Given the description of an element on the screen output the (x, y) to click on. 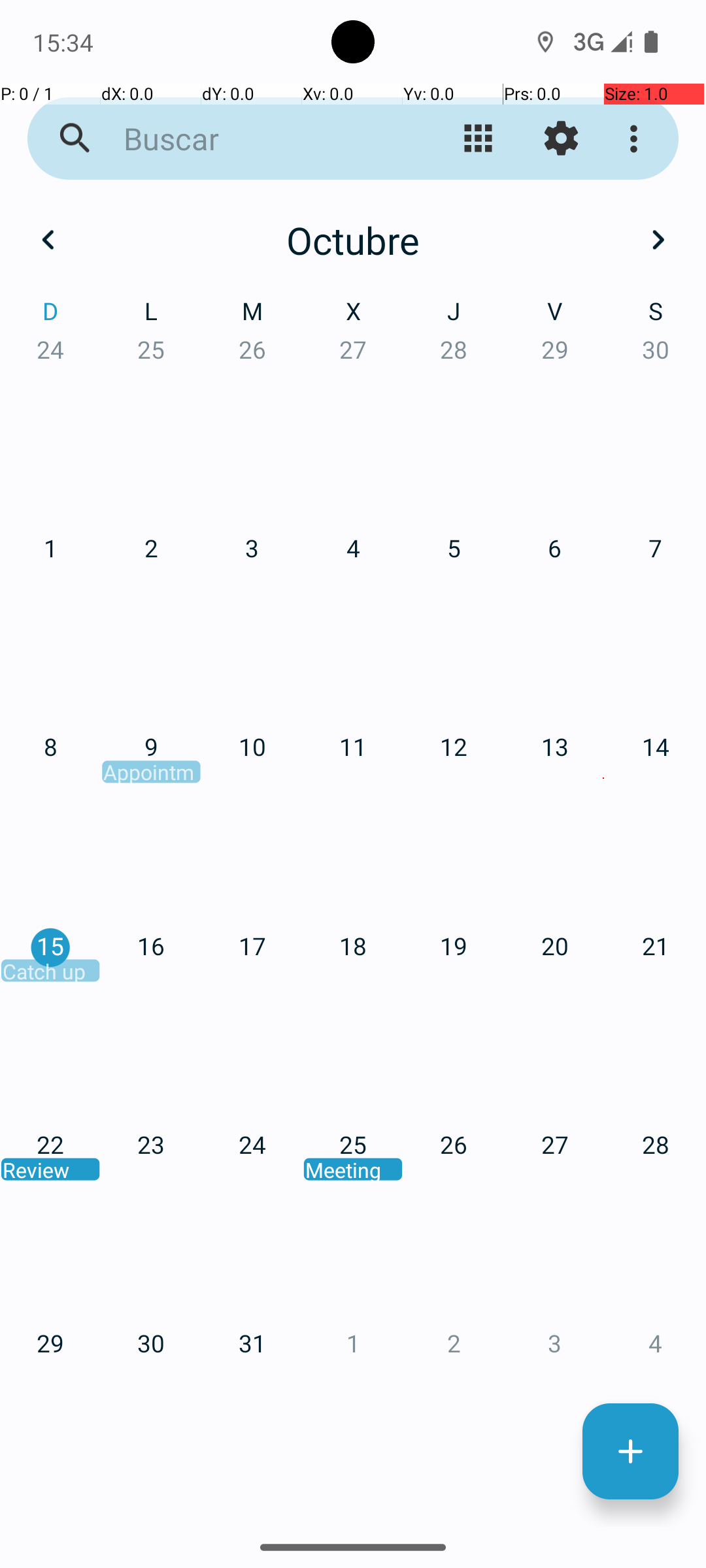
Buscar Element type: android.widget.EditText (252, 138)
Cambiar vista Element type: android.widget.Button (477, 138)
Ajustes Element type: android.widget.Button (560, 138)
Más opciones Element type: android.widget.ImageView (636, 138)
Nuevo evento Element type: android.widget.ImageButton (630, 1451)
Octubre Element type: android.widget.TextView (352, 239)
